Given the description of an element on the screen output the (x, y) to click on. 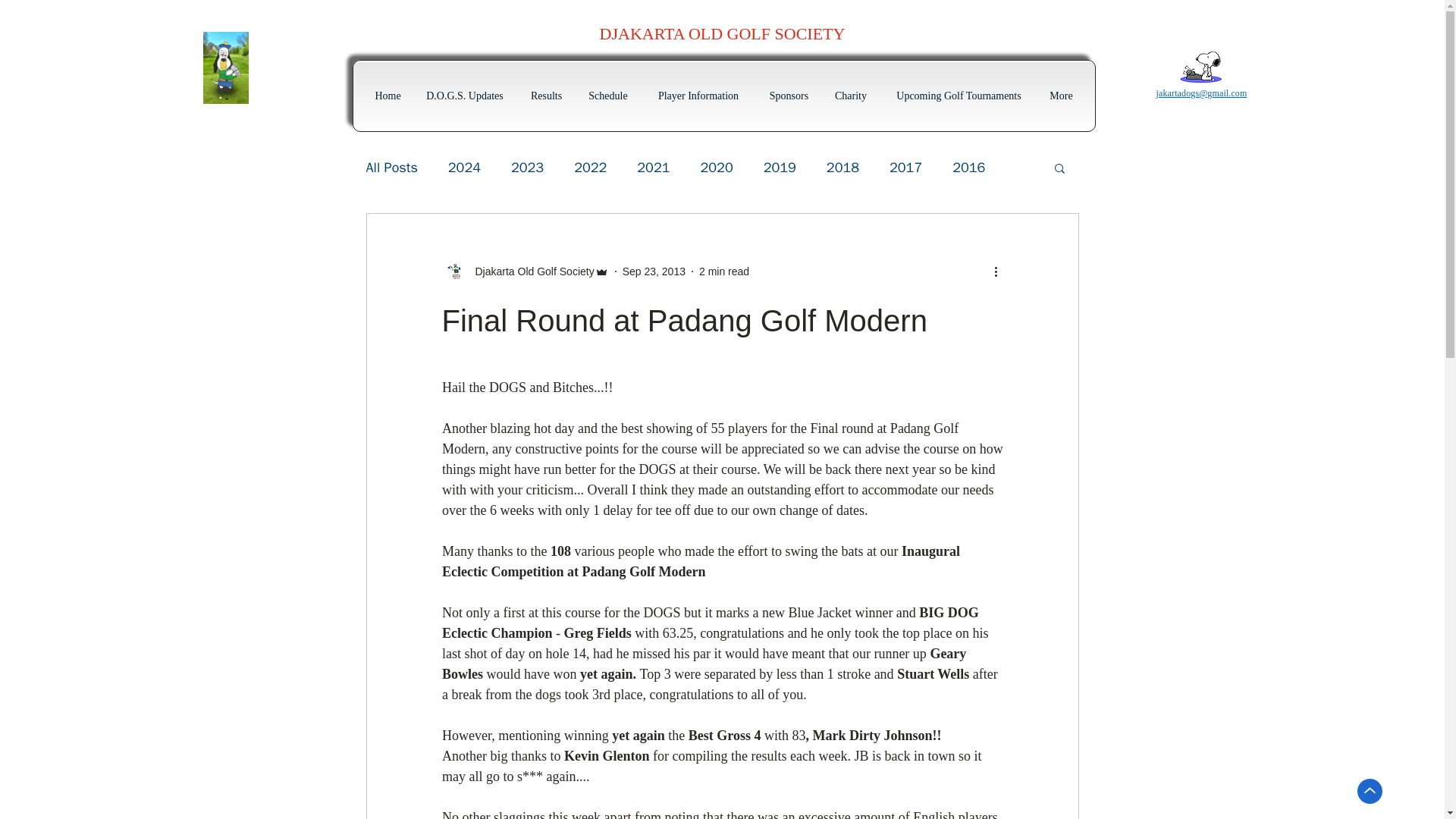
Schedule (607, 95)
2017 (905, 167)
2020 (716, 167)
Home (388, 95)
2016 (968, 167)
2018 (843, 167)
2022 (590, 167)
2023 (527, 167)
Djakarta Old Golf Society (524, 271)
Charity (850, 95)
